Given the description of an element on the screen output the (x, y) to click on. 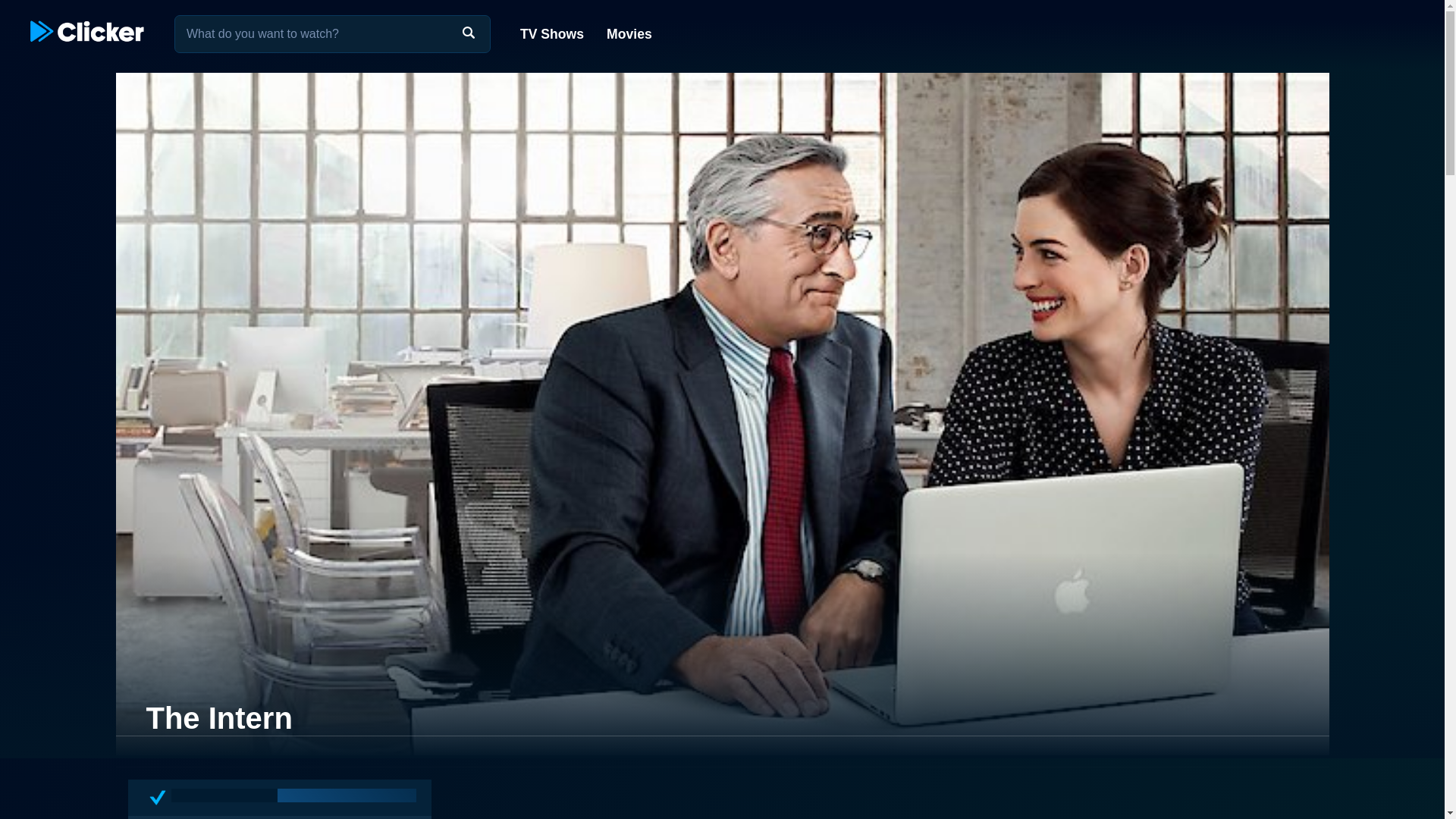
Movies (628, 33)
TV Shows (551, 33)
